Given the description of an element on the screen output the (x, y) to click on. 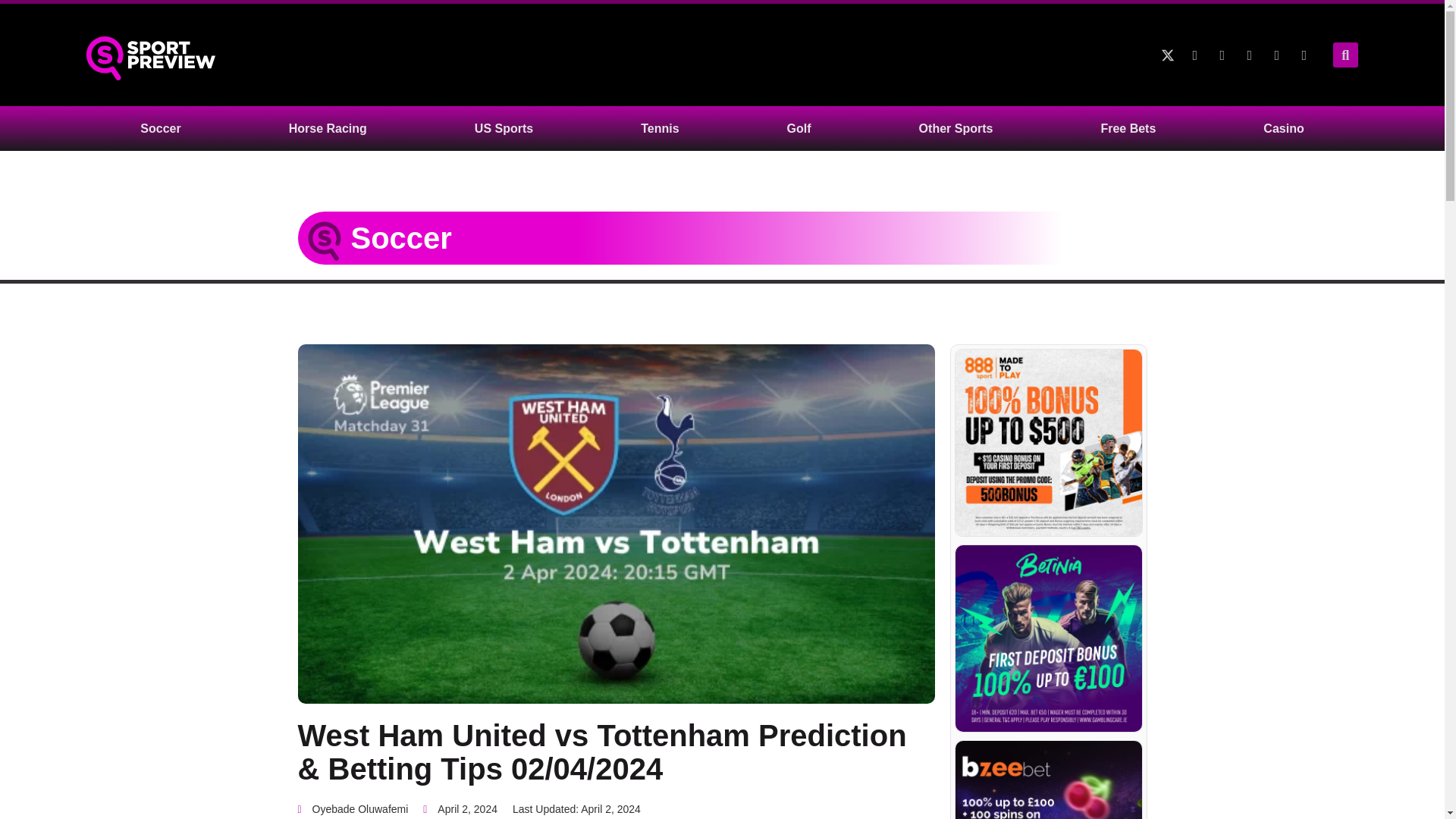
Oyebade Oluwafemi (352, 809)
Free Bets (1127, 128)
US Sports (503, 128)
Soccer (159, 128)
Horse Racing (327, 128)
Soccer (400, 237)
Tennis (659, 128)
Casino (1282, 128)
Other Sports (955, 128)
Golf (798, 128)
